Given the description of an element on the screen output the (x, y) to click on. 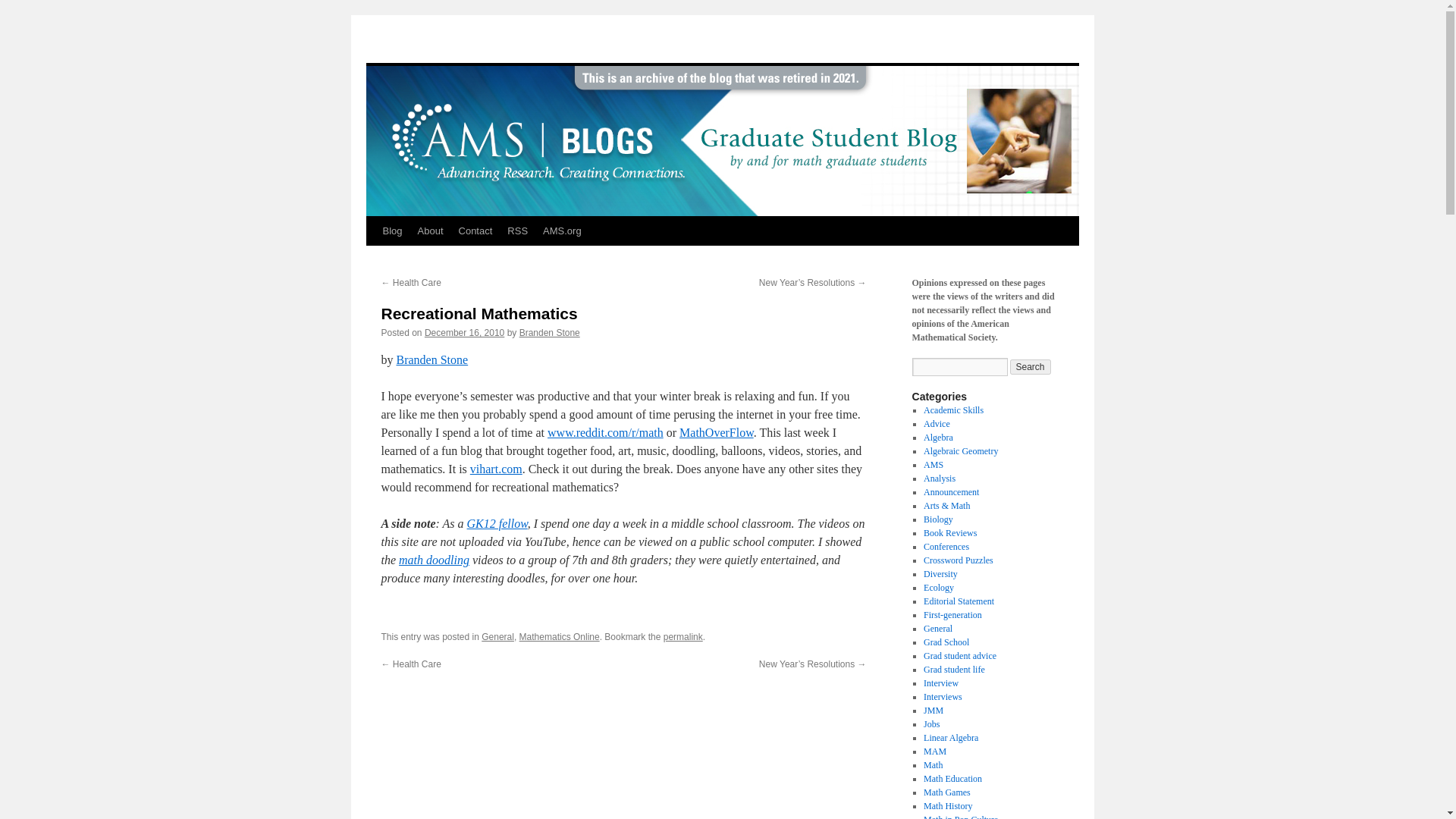
Contact (475, 231)
General (497, 636)
9:29 pm (464, 332)
Crossword Puzzles (957, 560)
About (430, 231)
December 16, 2010 (464, 332)
Biology (938, 519)
General (937, 628)
AMS (933, 464)
Search (1030, 366)
